Given the description of an element on the screen output the (x, y) to click on. 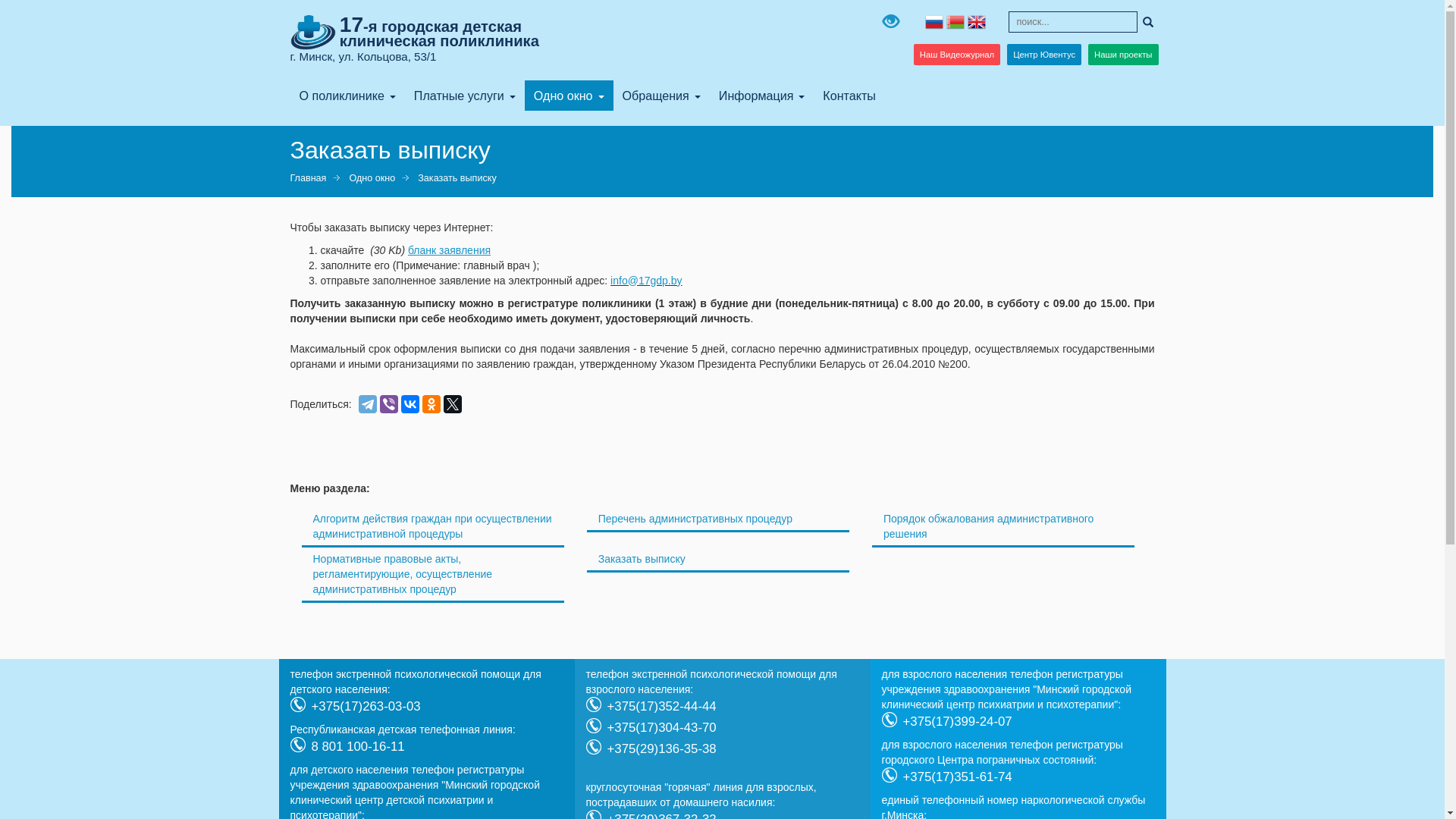
Telegram Element type: hover (367, 404)
+375(17)352-44-44 Element type: text (660, 706)
+375(17)351-61-74 Element type: text (956, 776)
+375(29)136-35-38 Element type: text (660, 748)
info@17gdp.by Element type: text (645, 280)
+375(17)263-03-03 Element type: text (365, 706)
Twitter Element type: hover (452, 404)
+375(17)304-43-70 Element type: text (660, 727)
8 801 100-16-11 Element type: text (357, 746)
Viber Element type: hover (388, 404)
+375(17)399-24-07 Element type: text (956, 721)
